Given the description of an element on the screen output the (x, y) to click on. 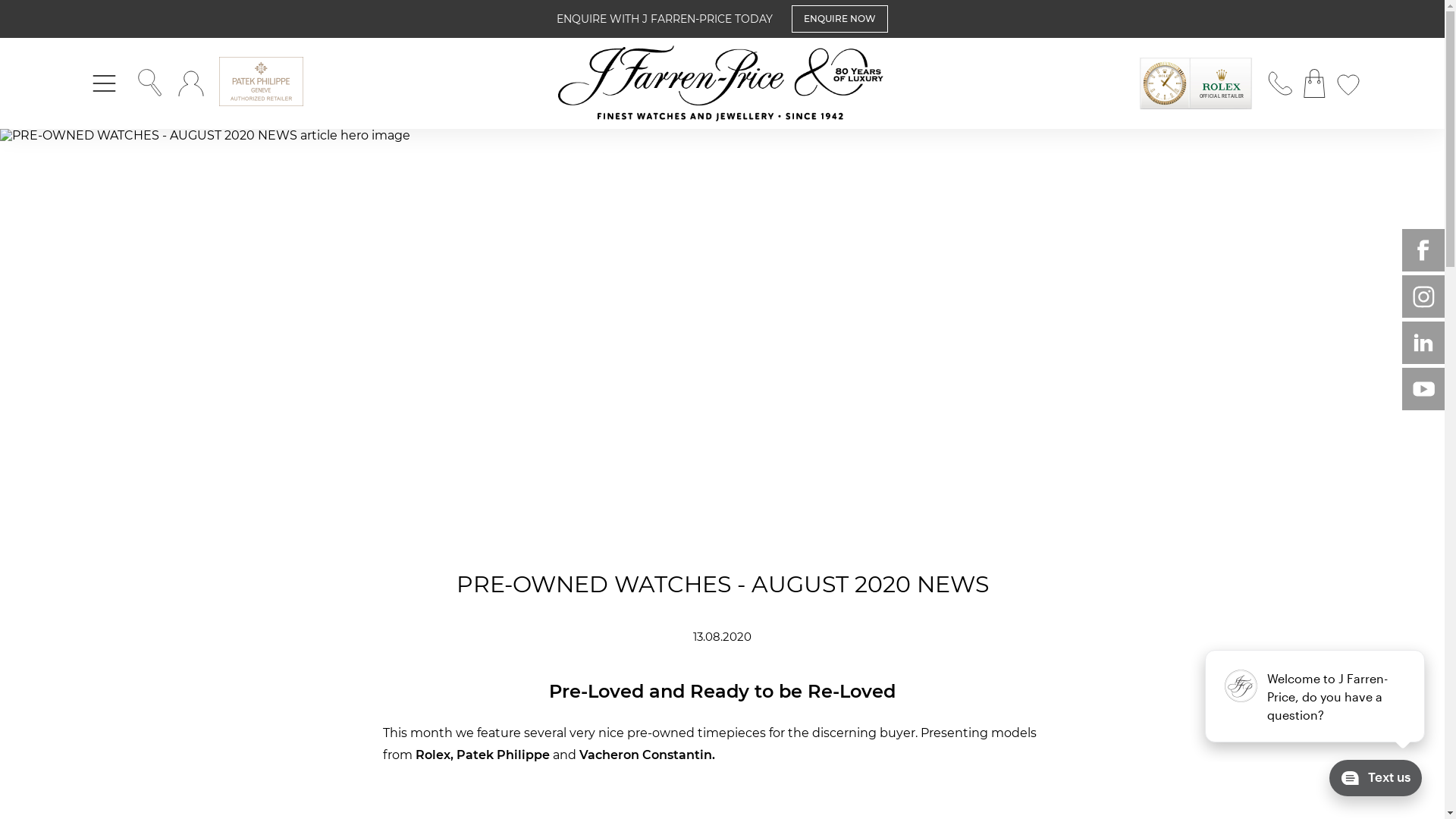
ENQUIRE NOW Element type: text (839, 19)
podium webchat widget prompt Element type: hover (1315, 696)
